Given the description of an element on the screen output the (x, y) to click on. 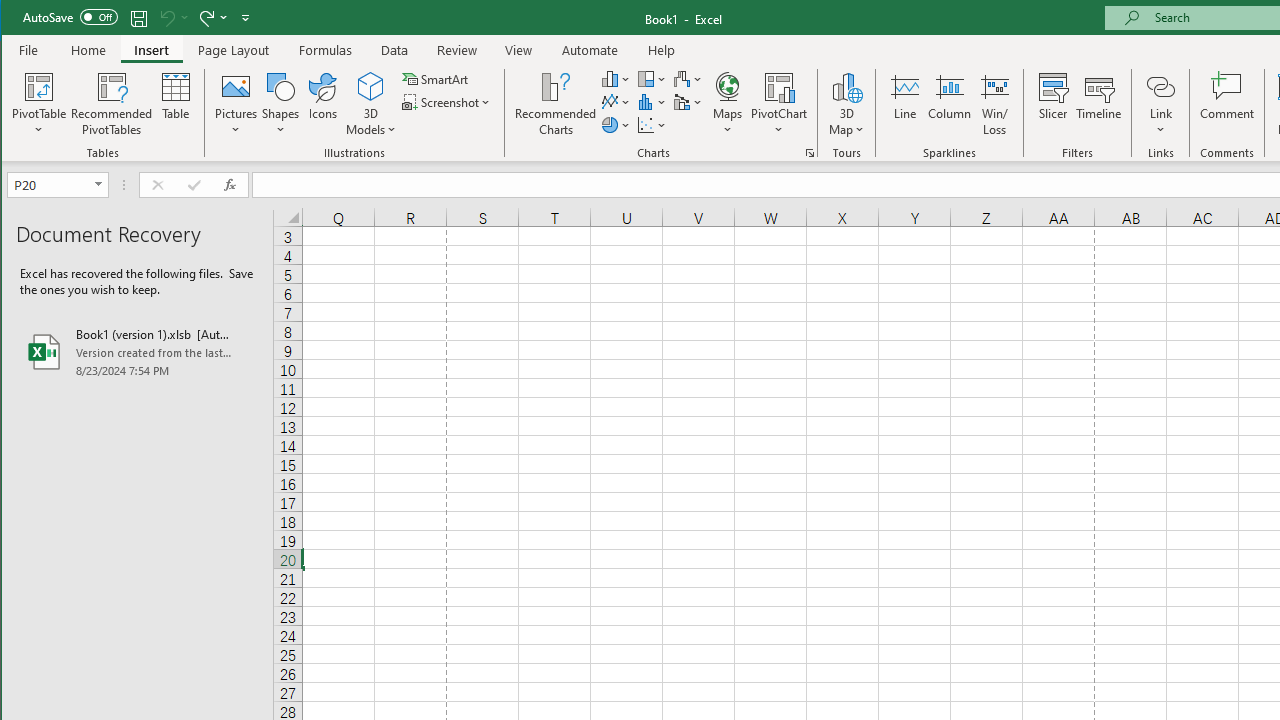
Link (1160, 86)
PivotChart (779, 104)
Insert Pie or Doughnut Chart (616, 124)
3D Models (371, 86)
Comment (1227, 104)
Pictures (235, 104)
3D Map (846, 104)
Maps (727, 104)
Timeline (1098, 104)
Insert Combo Chart (688, 101)
